Given the description of an element on the screen output the (x, y) to click on. 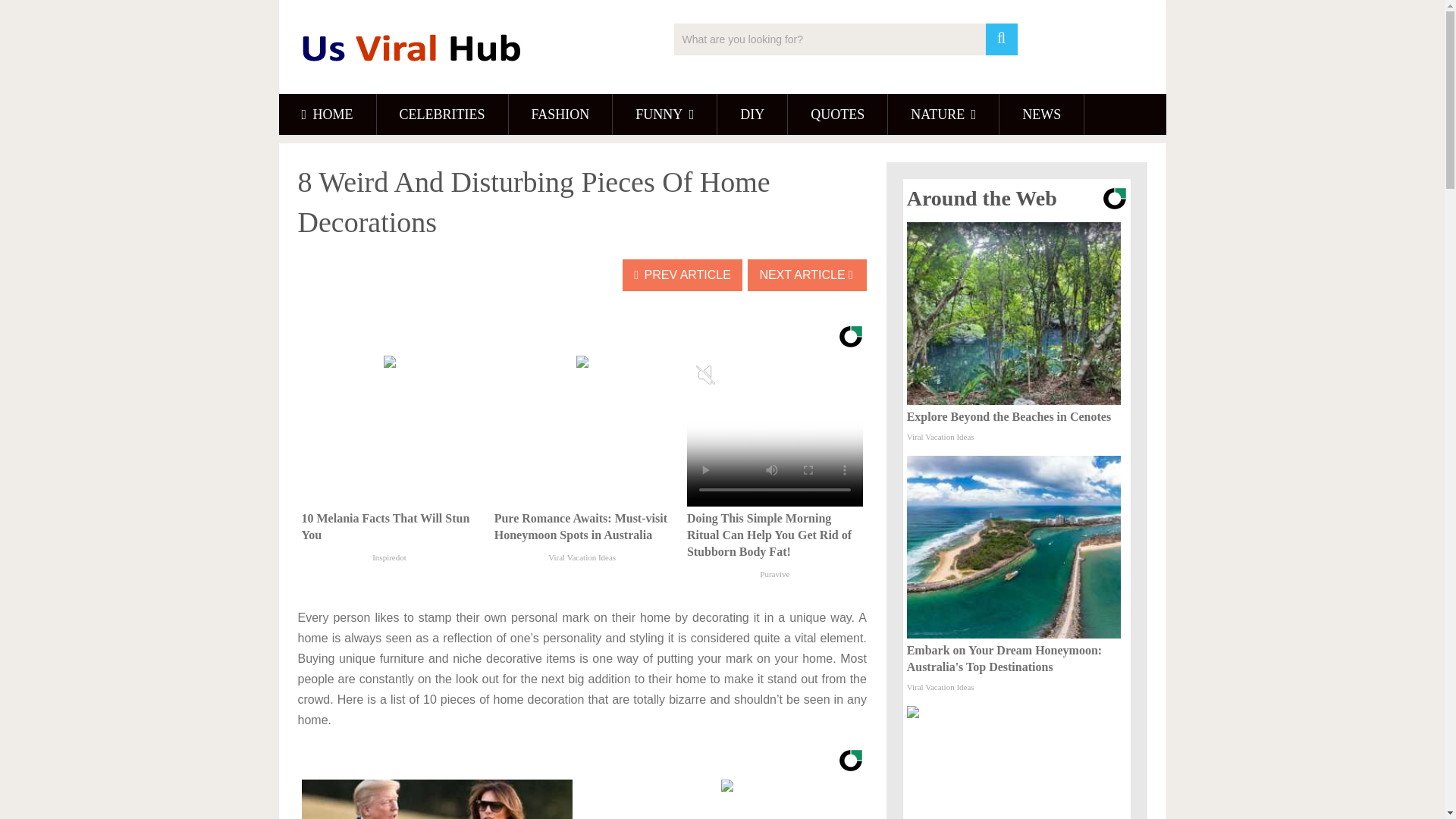
PREV ARTICLE (682, 275)
NEXT ARTICLE (807, 275)
FASHION (560, 114)
DIY (752, 114)
CELEBRITIES (442, 114)
NATURE (943, 114)
FUNNY (664, 114)
QUOTES (836, 114)
HOME (327, 114)
NEWS (1040, 114)
